Given the description of an element on the screen output the (x, y) to click on. 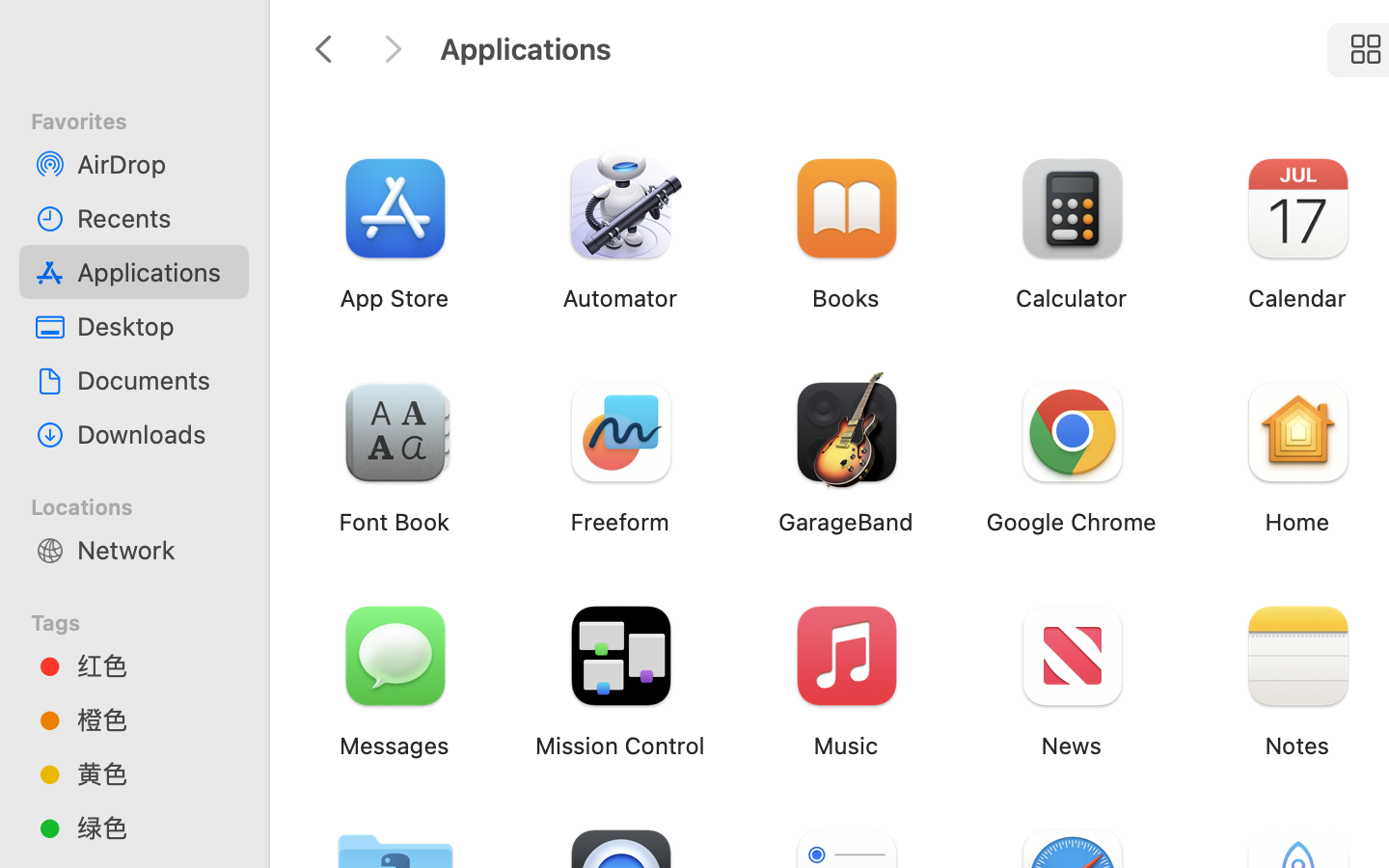
Desktop Element type: AXStaticText (155, 325)
Locations Element type: AXStaticText (145, 504)
Network Element type: AXStaticText (155, 549)
绿色 Element type: AXStaticText (155, 827)
